Given the description of an element on the screen output the (x, y) to click on. 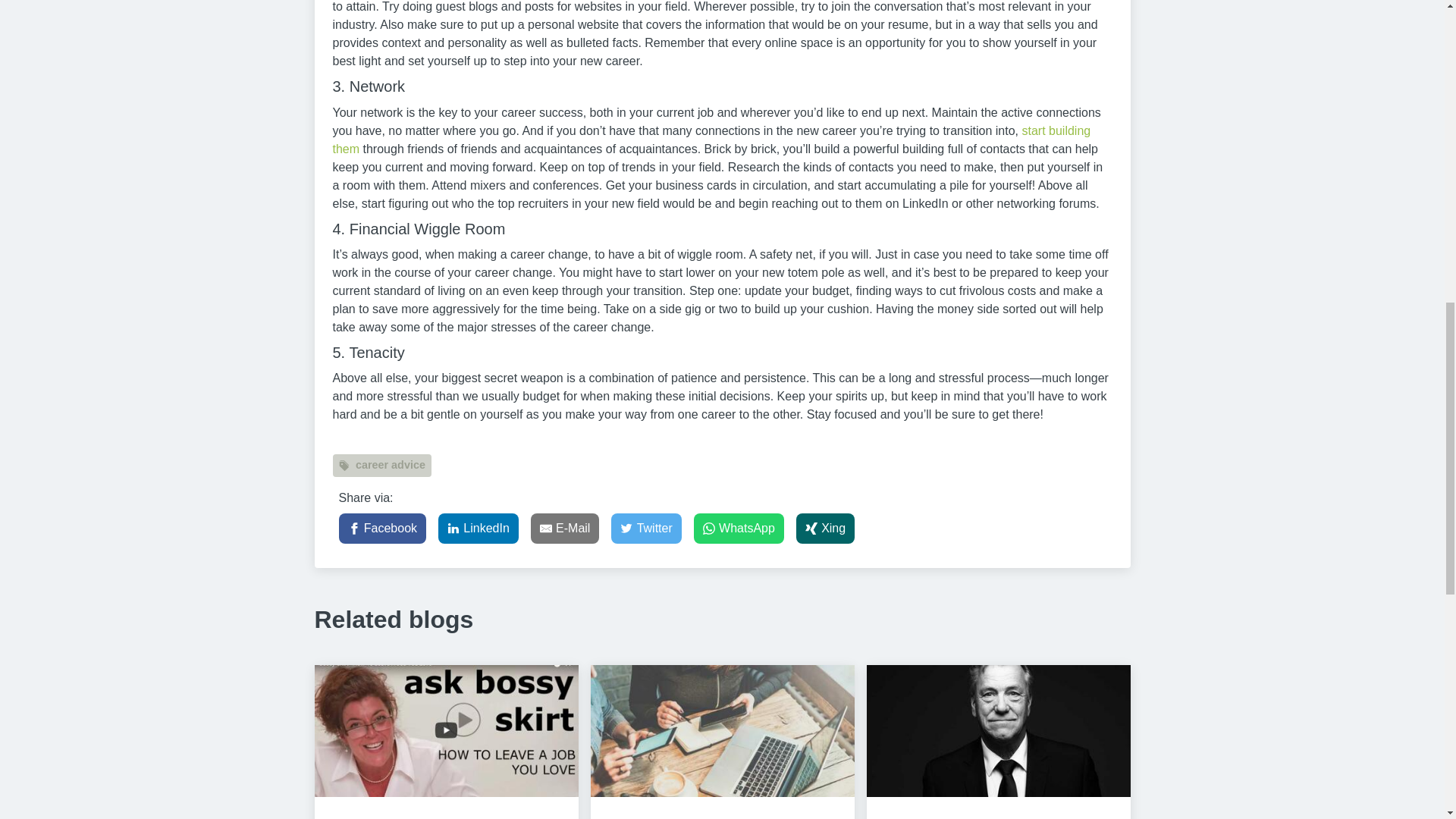
Xing (825, 528)
start building them (710, 139)
Twitter (646, 528)
career advice (380, 465)
E-Mail (565, 528)
LinkedIn (478, 528)
WhatsApp (739, 528)
Facebook (381, 528)
